Given the description of an element on the screen output the (x, y) to click on. 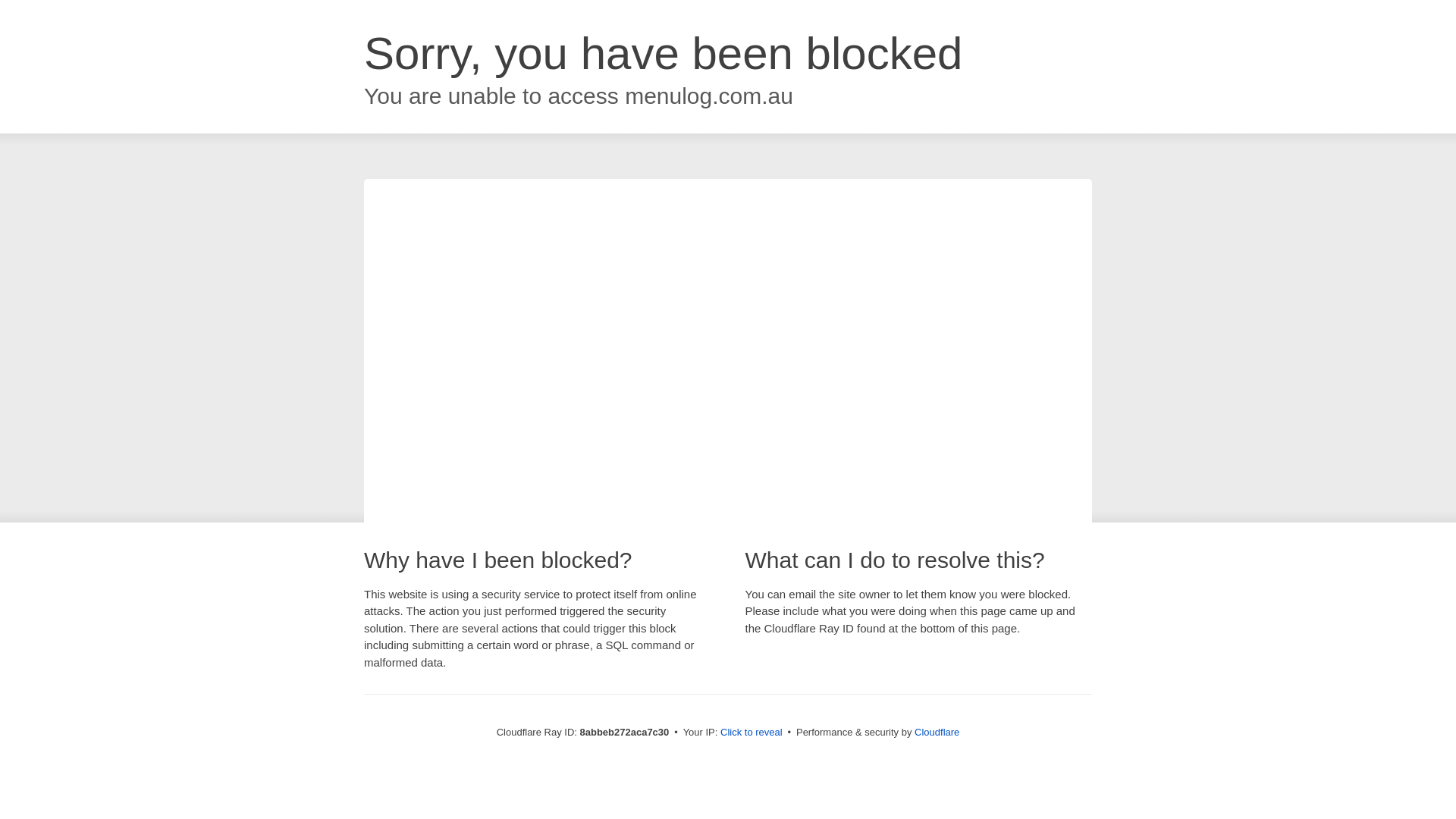
Click to reveal (751, 732)
Cloudflare (936, 731)
